Given the description of an element on the screen output the (x, y) to click on. 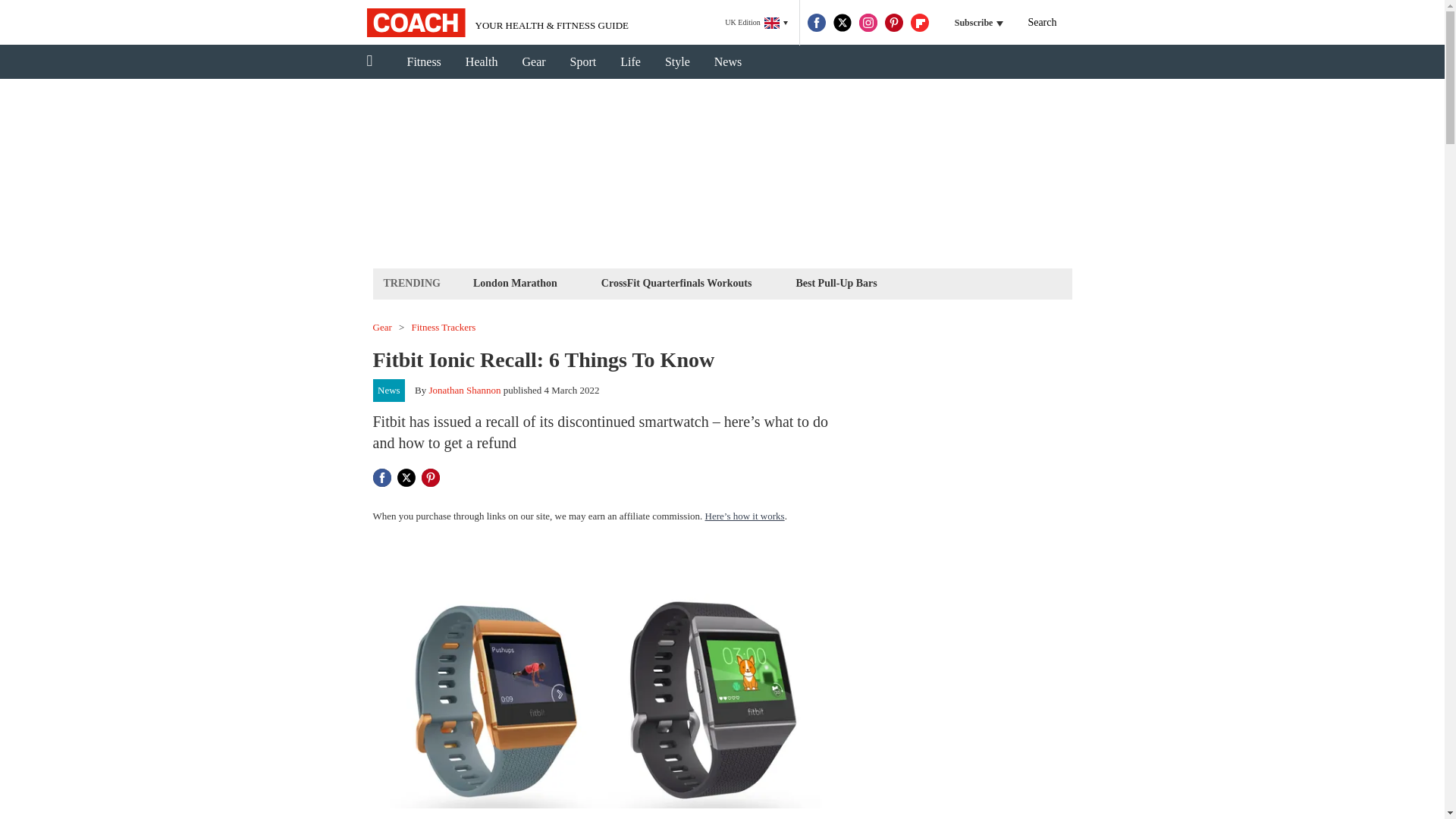
Fitness Trackers (444, 327)
London Marathon (514, 282)
Jonathan Shannon (464, 389)
CrossFit Quarterfinals Workouts (676, 282)
Sport (582, 61)
Health (481, 61)
UK Edition (755, 22)
Life (630, 61)
Best Pull-Up Bars (836, 282)
News (389, 390)
